Given the description of an element on the screen output the (x, y) to click on. 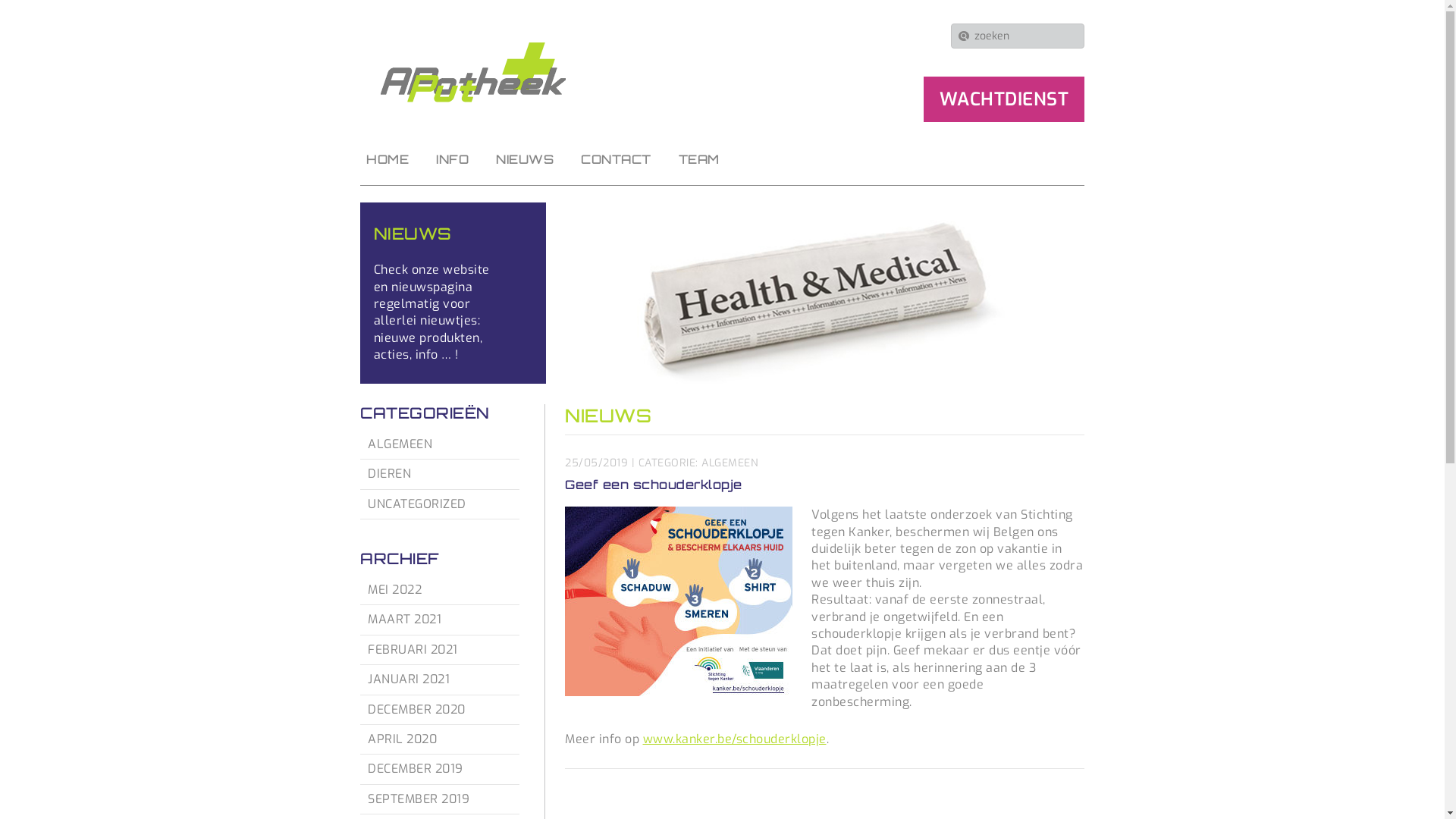
ALGEMEEN Element type: text (439, 443)
JANUARI 2021 Element type: text (439, 679)
FEBRUARI 2021 Element type: text (439, 649)
TEAM Element type: text (697, 159)
NIEUWS Element type: text (524, 159)
www.kanker.be/schouderklopje Element type: text (734, 738)
INFO Element type: text (451, 159)
WACHTDIENST Element type: text (1004, 99)
DECEMBER 2019 Element type: text (439, 768)
UNCATEGORIZED Element type: text (439, 503)
APRIL 2020 Element type: text (439, 738)
MEI 2022 Element type: text (439, 589)
DIEREN Element type: text (439, 473)
DECEMBER 2020 Element type: text (439, 709)
SEPTEMBER 2019 Element type: text (439, 798)
HOME Element type: text (387, 159)
CONTACT Element type: text (615, 159)
MAART 2021 Element type: text (439, 619)
